Given the description of an element on the screen output the (x, y) to click on. 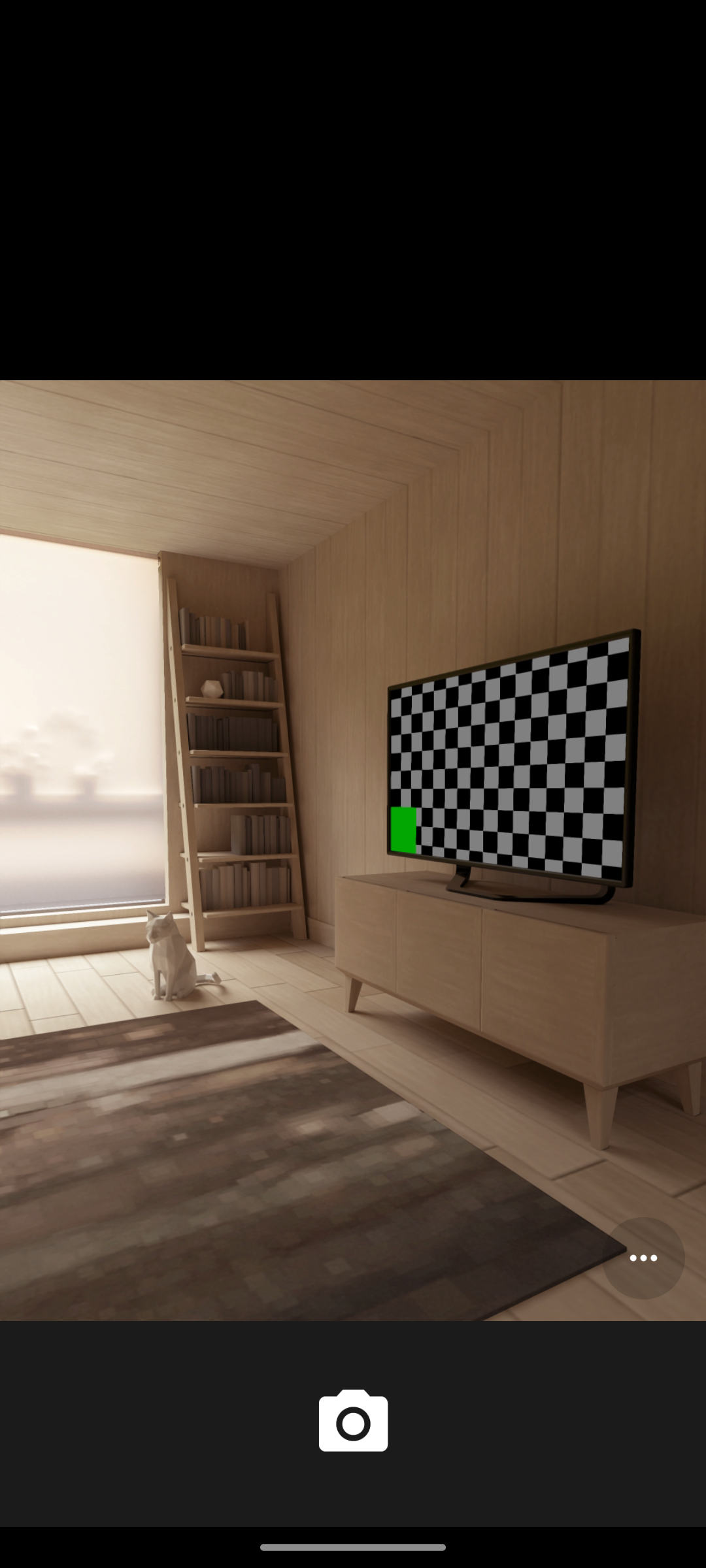
Options (643, 1257)
Shutter (353, 1423)
